Given the description of an element on the screen output the (x, y) to click on. 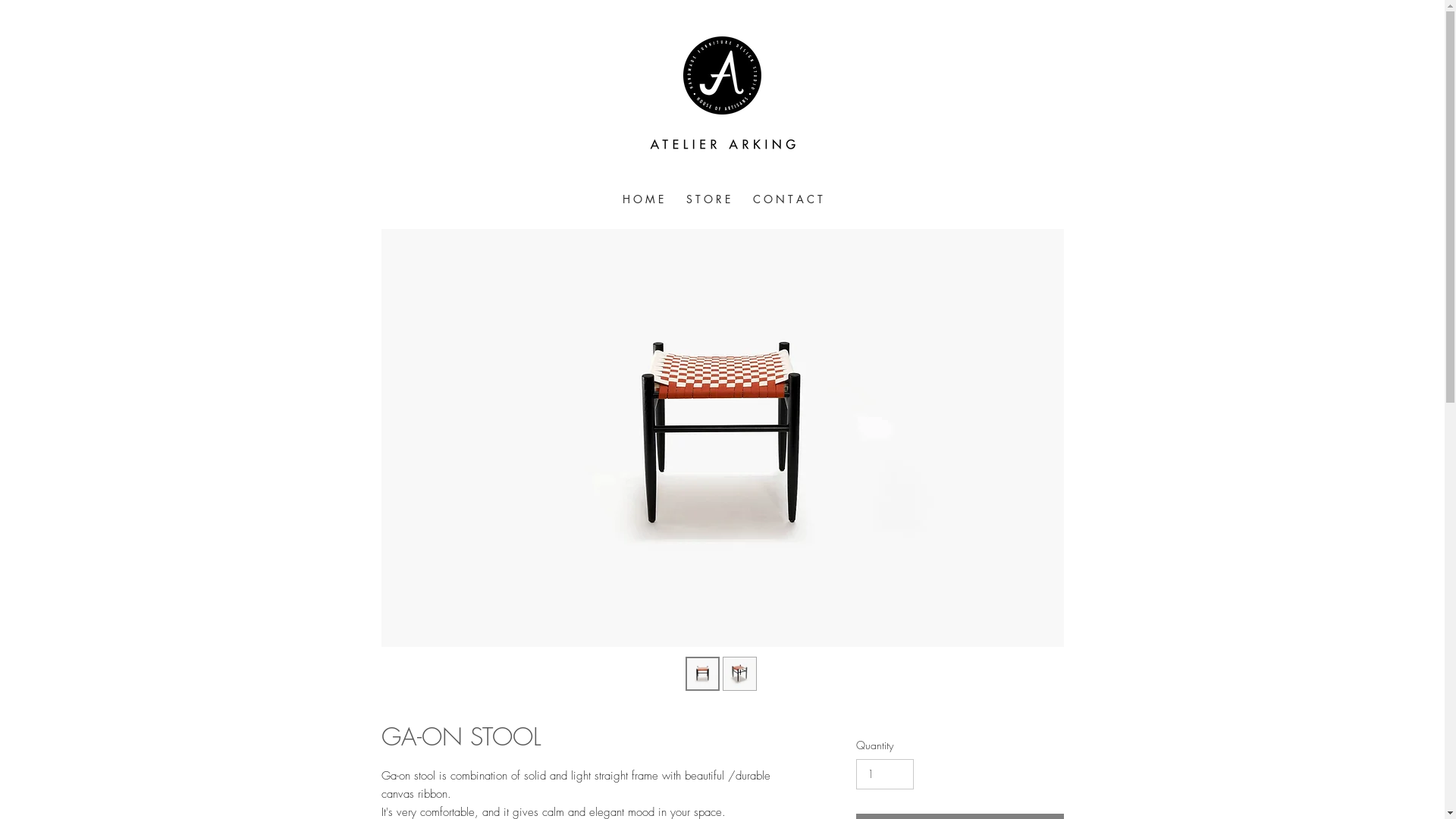
S T O R E Element type: text (707, 198)
C O N T A C T Element type: text (787, 198)
H O M E Element type: text (642, 198)
